Given the description of an element on the screen output the (x, y) to click on. 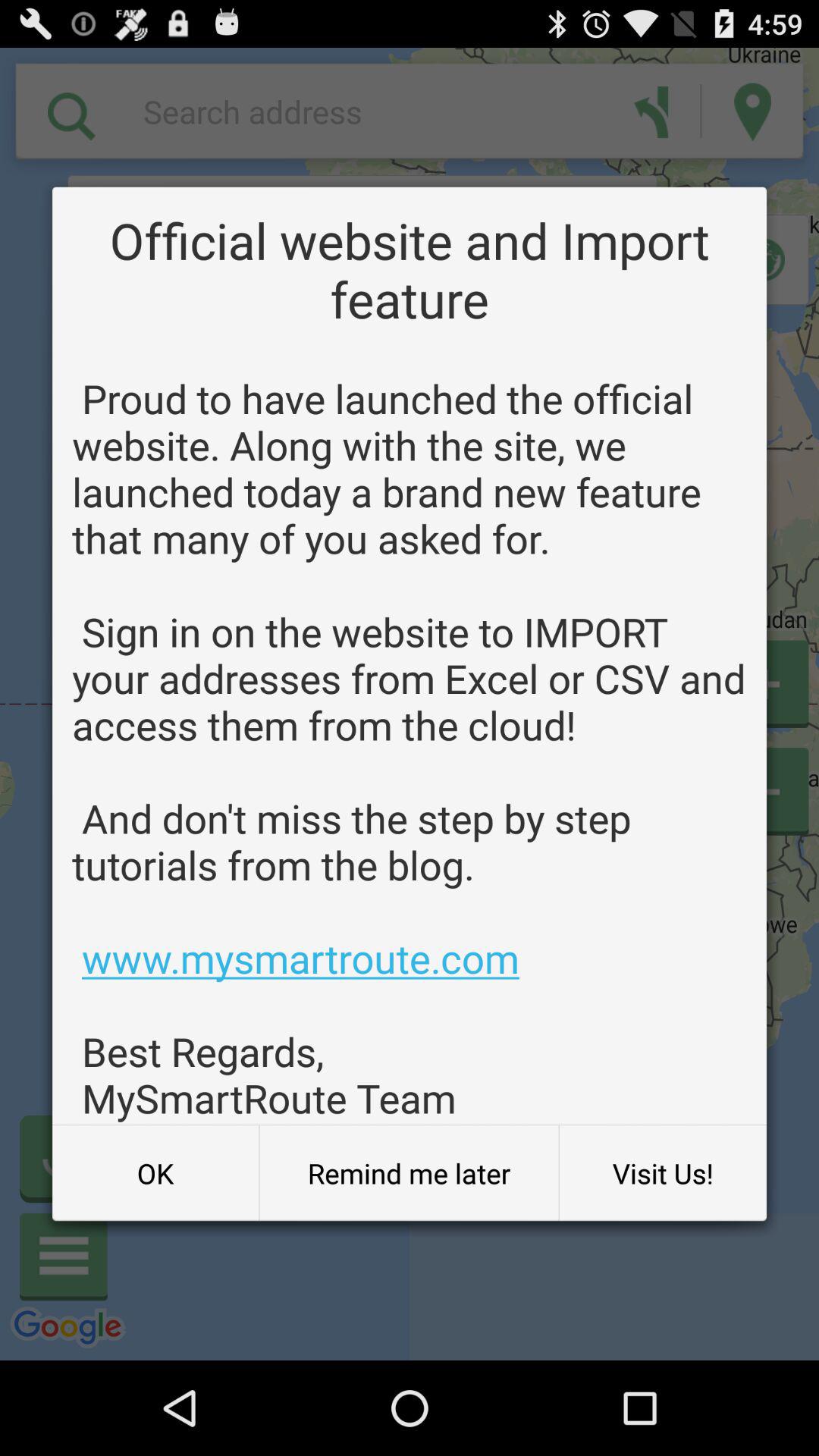
select the item at the center (409, 747)
